Given the description of an element on the screen output the (x, y) to click on. 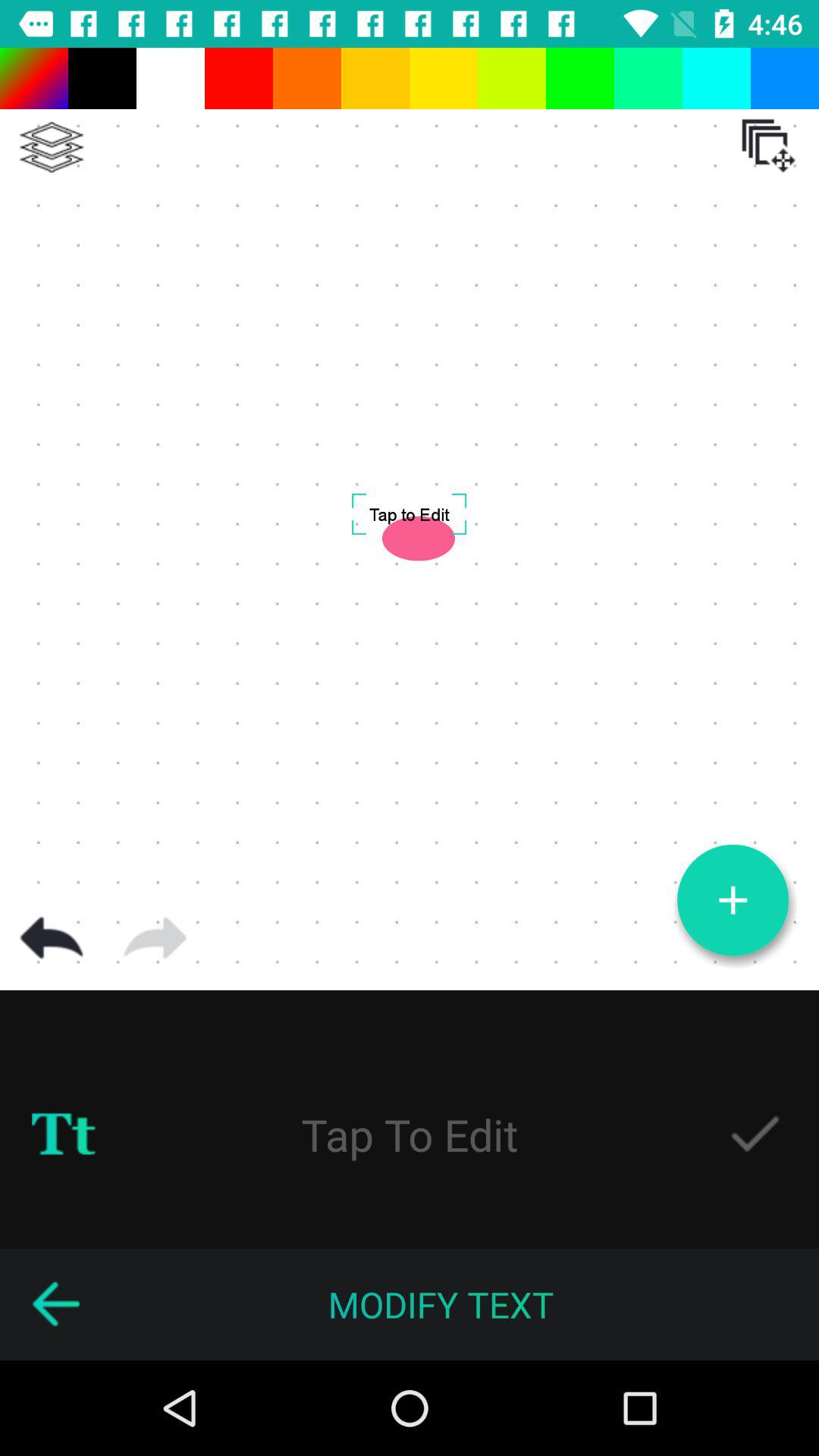
adding button (733, 900)
